Given the description of an element on the screen output the (x, y) to click on. 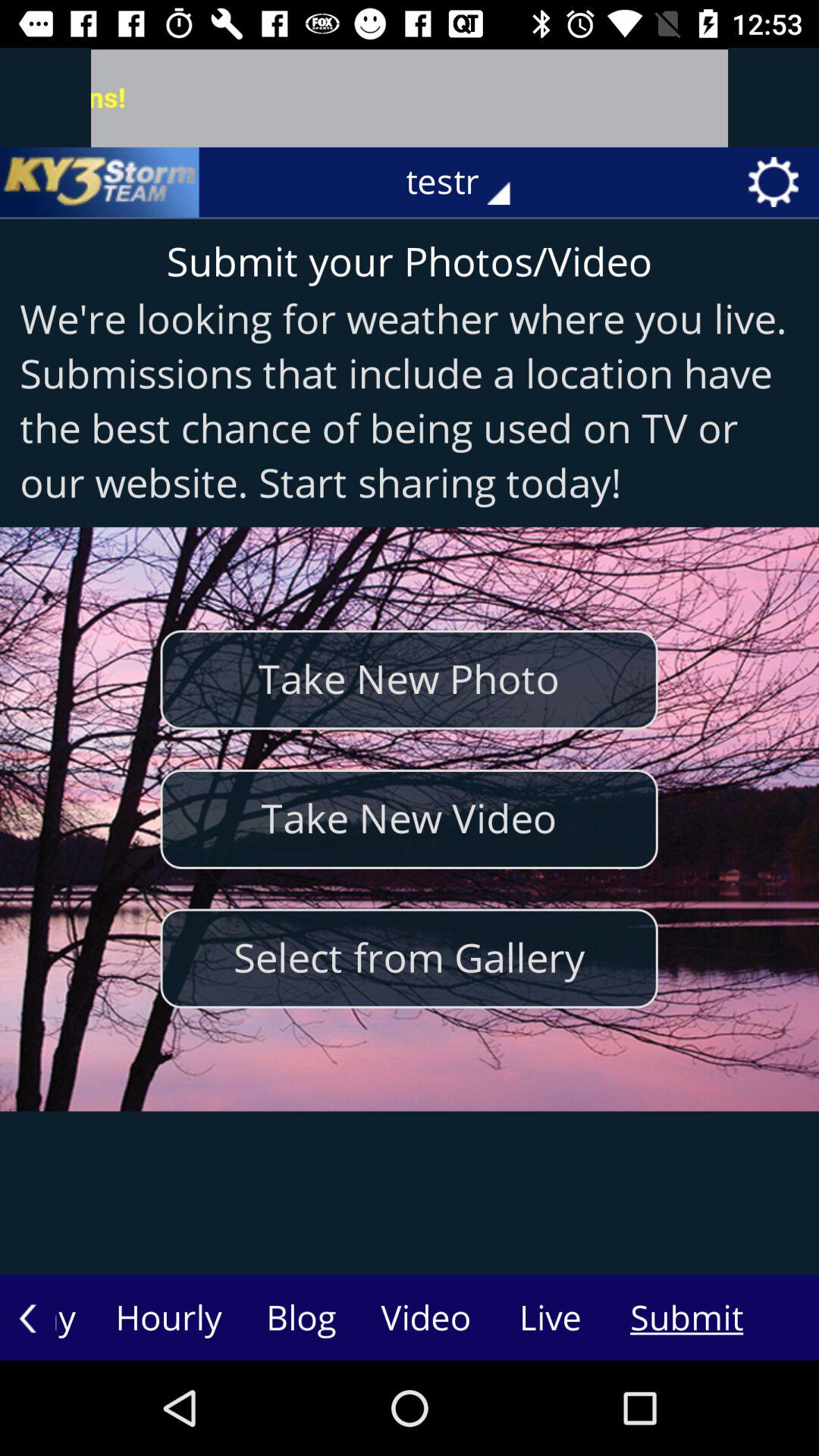
press icon at the top left corner (99, 182)
